Given the description of an element on the screen output the (x, y) to click on. 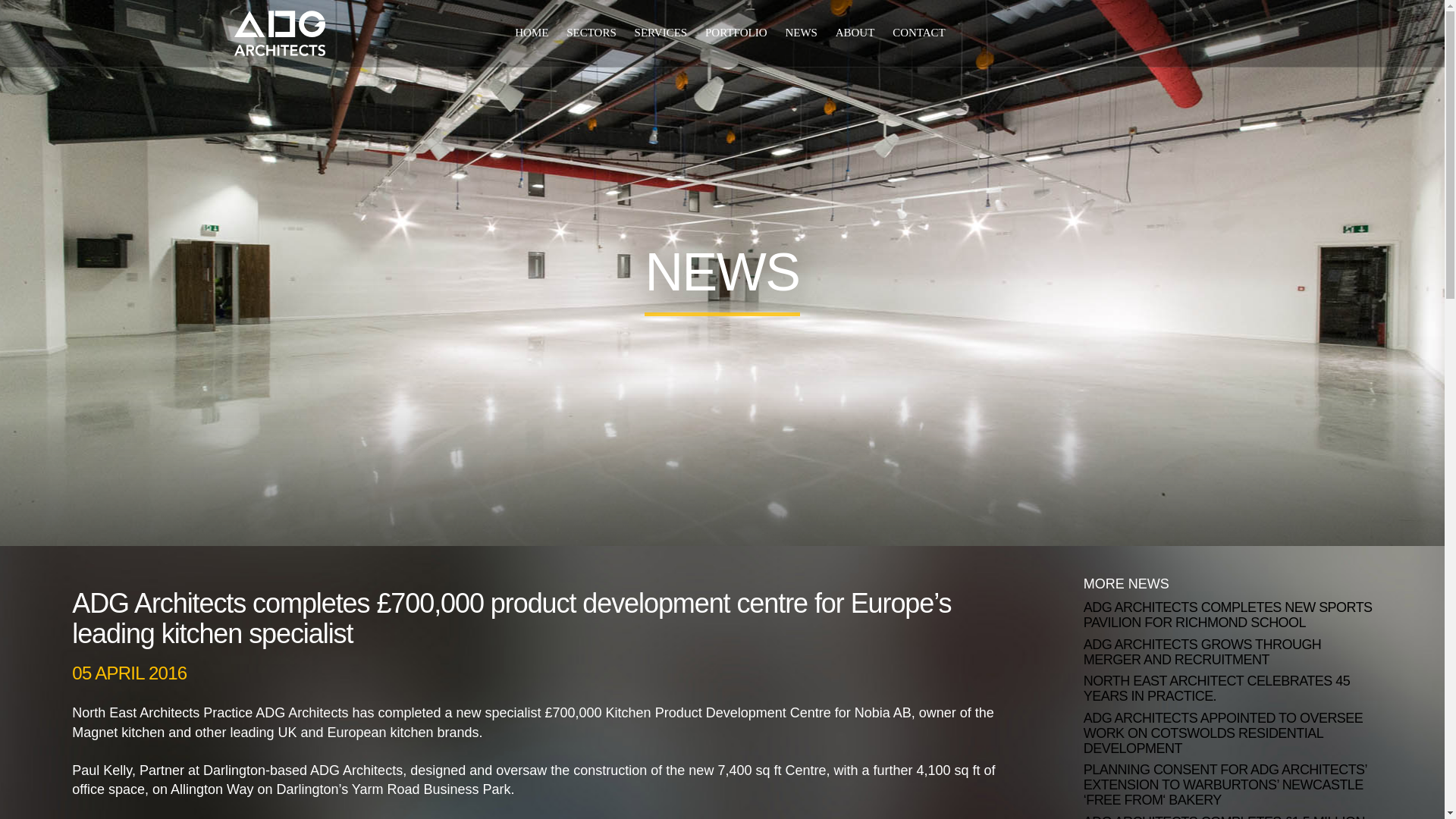
SERVICES (660, 32)
ABOUT (855, 32)
ADG ARCHITECTS GROWS THROUGH MERGER AND RECRUITMENT (1228, 653)
NEWS (800, 32)
SECTORS (590, 32)
NORTH EAST ARCHITECT CELEBRATES 45 YEARS IN PRACTICE. (1228, 689)
MORE NEWS (1126, 583)
HOME (531, 32)
PORTFOLIO (735, 32)
CONTACT (918, 32)
